Given the description of an element on the screen output the (x, y) to click on. 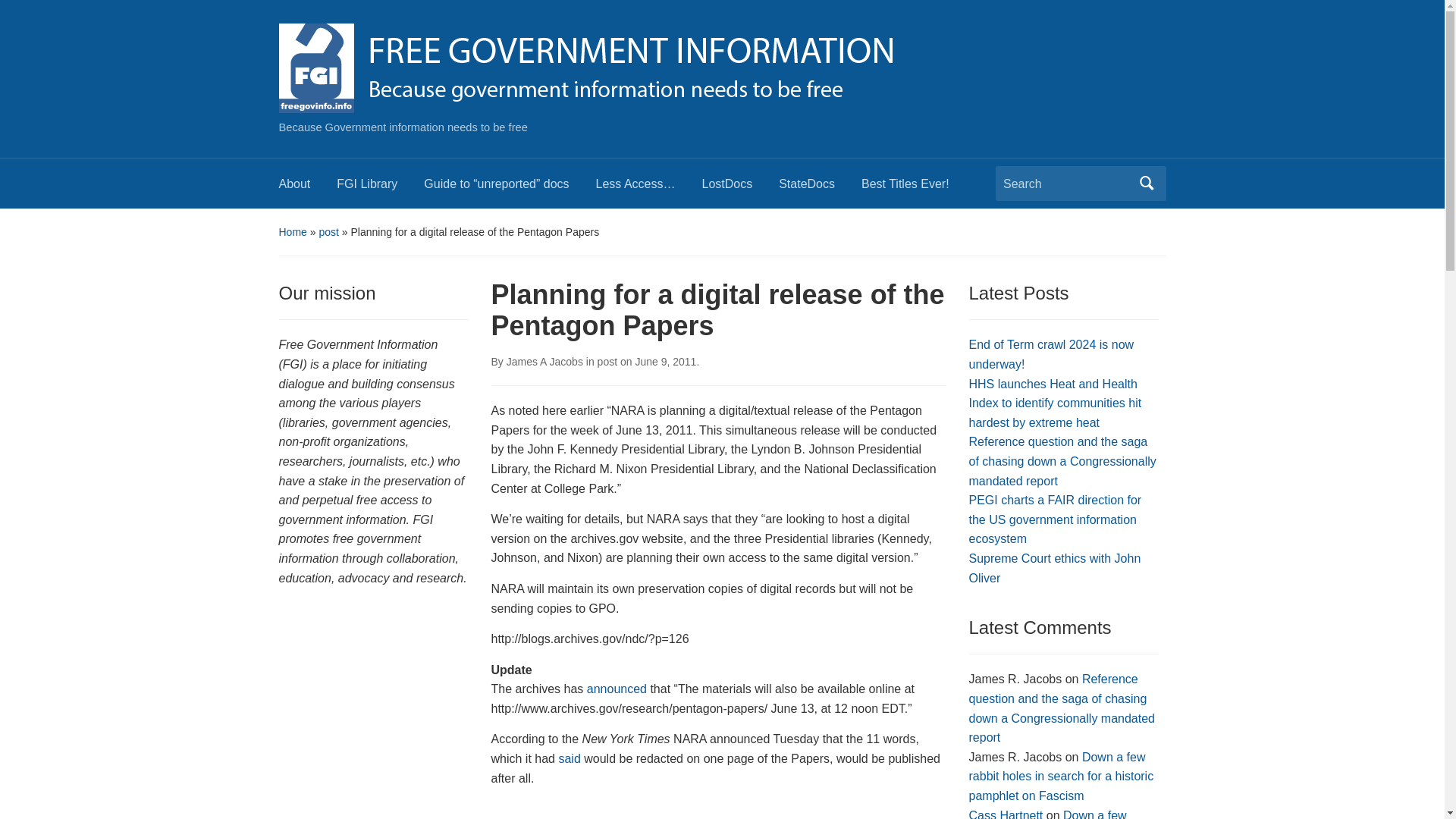
11:51 am (664, 361)
post (327, 232)
announced (616, 688)
StateDocs (819, 188)
Home (293, 232)
Best Titles Ever! (918, 188)
said (568, 758)
FGI Library (379, 188)
About (308, 188)
End of Term crawl 2024 is now underway! (1051, 354)
James A Jacobs (544, 361)
